Given the description of an element on the screen output the (x, y) to click on. 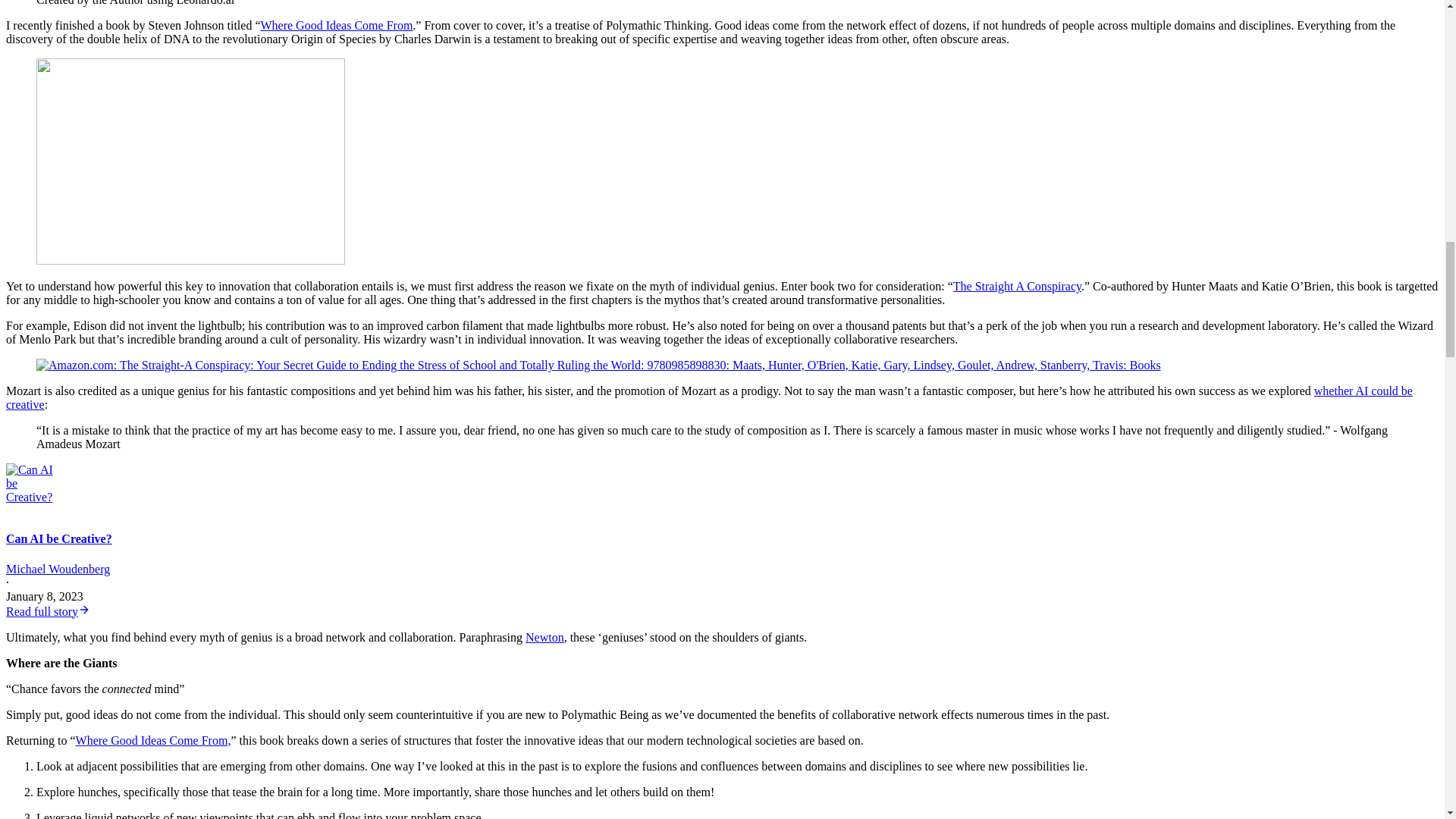
Michael Woudenberg (57, 568)
The Straight A Conspiracy (1017, 286)
whether AI could be creative (708, 397)
Where Good Ideas Come From (336, 24)
